Given the description of an element on the screen output the (x, y) to click on. 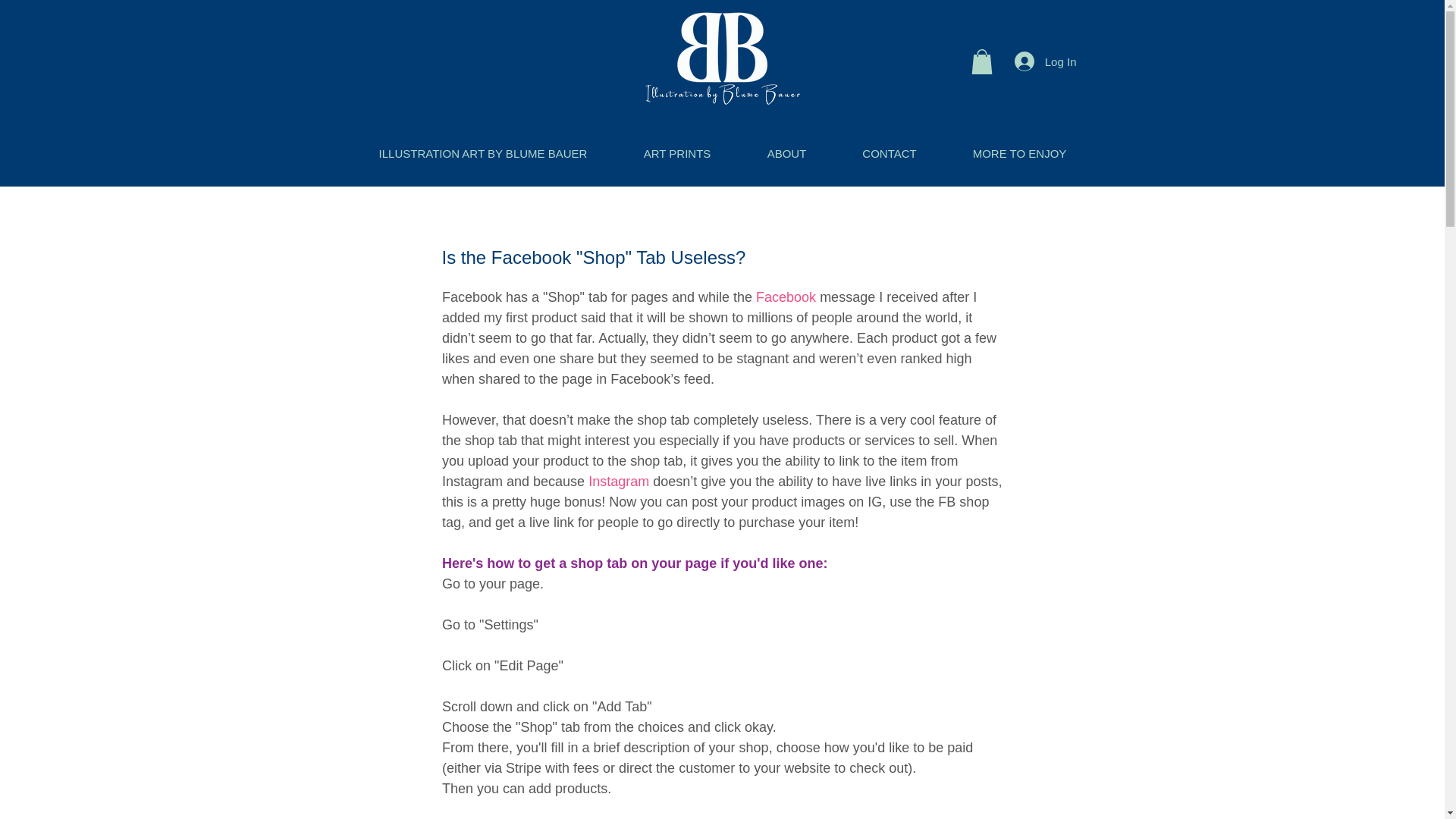
Instagram (618, 481)
ART PRINTS (677, 153)
ABOUT (786, 153)
ILLUSTRATION ART BY BLUME BAUER (482, 153)
CONTACT (888, 153)
Facebook (785, 296)
MORE TO ENJOY (1019, 153)
Log In (1045, 61)
